Given the description of an element on the screen output the (x, y) to click on. 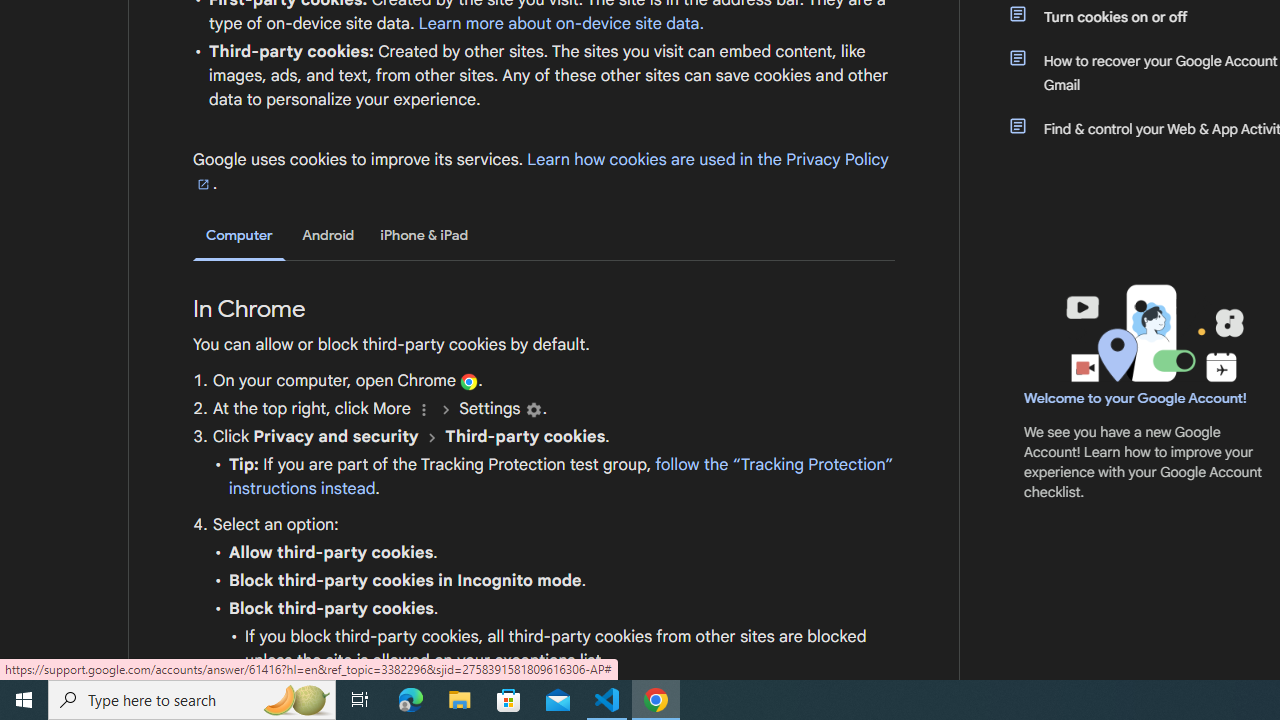
and then (431, 437)
Learning Center home page image (1152, 333)
Android (328, 235)
iPhone & iPad (424, 235)
Welcome to your Google Account! (1135, 397)
Learn more about on-device site data. (561, 23)
Computer (239, 235)
More (423, 409)
Learn how cookies are used in the Privacy Policy (541, 171)
